Given the description of an element on the screen output the (x, y) to click on. 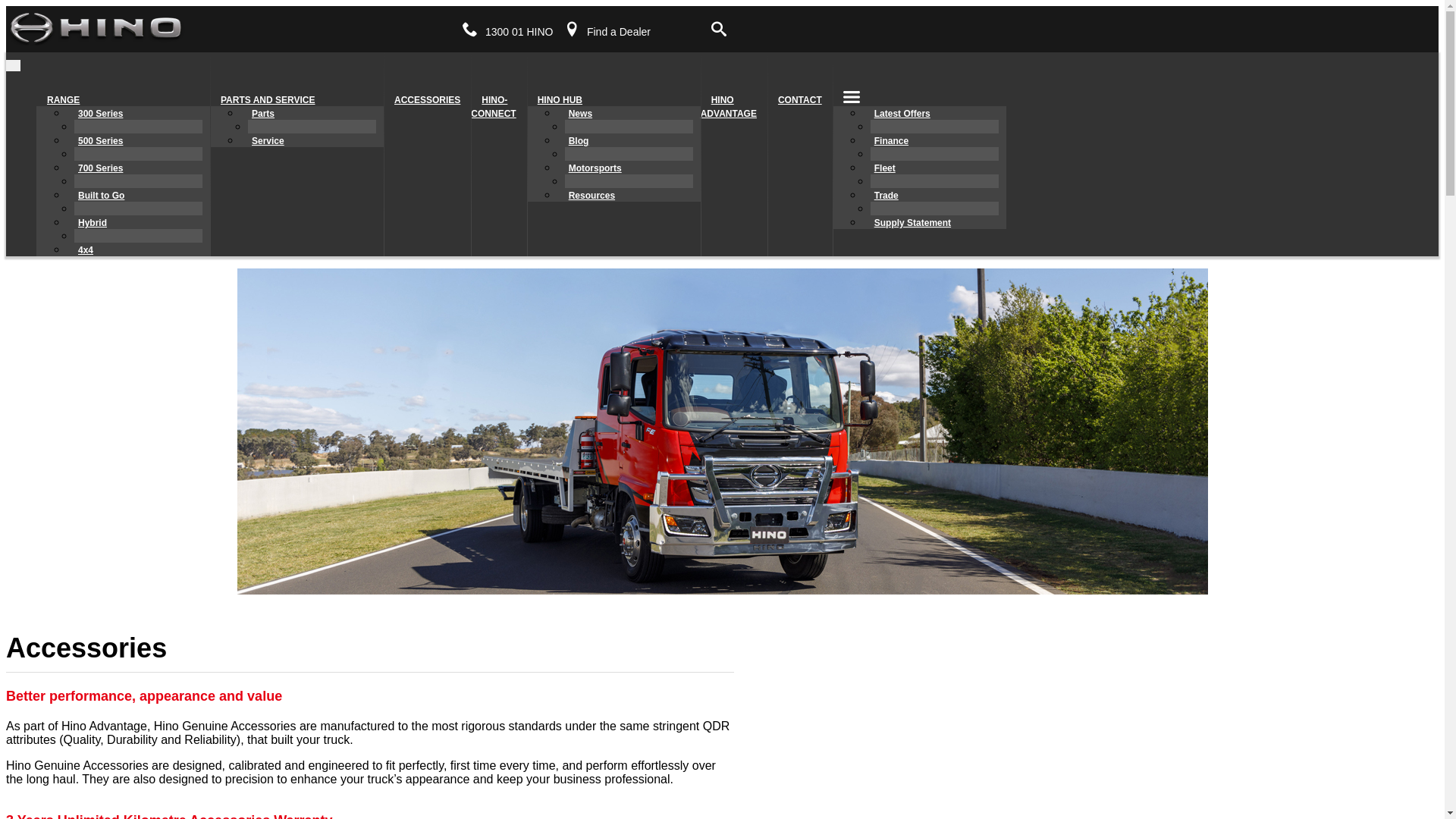
PARTS AND SERVICE Element type: text (267, 99)
Hybrid Element type: text (92, 222)
Blog Element type: text (578, 140)
300 Series Element type: text (100, 113)
ACCESSORIES Element type: text (426, 99)
CONTACT Element type: text (799, 99)
Supply Statement Element type: text (912, 222)
Resources Element type: text (591, 195)
Finance Element type: text (891, 140)
Toggle navigation
      Element type: text (13, 65)
Motorsports Element type: text (594, 168)
HINO-CONNECT Element type: text (498, 106)
Trade Element type: text (886, 195)
Fleet Element type: text (884, 168)
1300 01 HINO Element type: text (519, 31)
News Element type: text (580, 113)
Find a Dealer Element type: text (618, 31)
700 Series Element type: text (100, 168)
Parts Element type: text (262, 113)
Latest Offers Element type: text (902, 113)
Built to Go Element type: text (101, 195)
RANGE Element type: text (63, 99)
HINO ADVANTAGE Element type: text (733, 106)
4x4 Element type: text (85, 250)
500 Series Element type: text (100, 140)
HINO HUB Element type: text (560, 99)
Service Element type: text (267, 140)
